Given the description of an element on the screen output the (x, y) to click on. 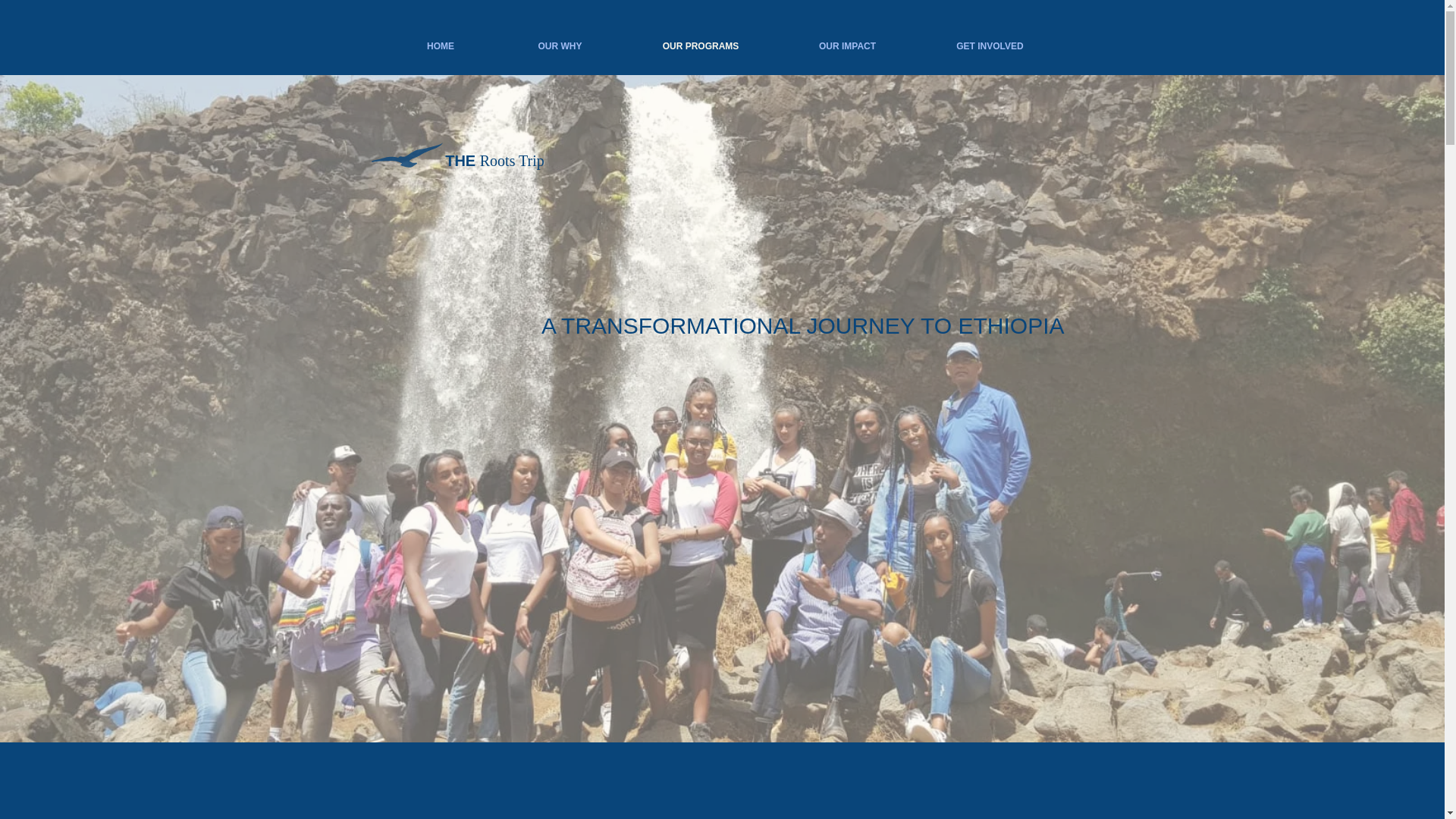
OUR PROGRAMS (700, 46)
HOME (440, 46)
OUR IMPACT (846, 46)
OUR WHY (560, 46)
GET INVOLVED (988, 46)
